Given the description of an element on the screen output the (x, y) to click on. 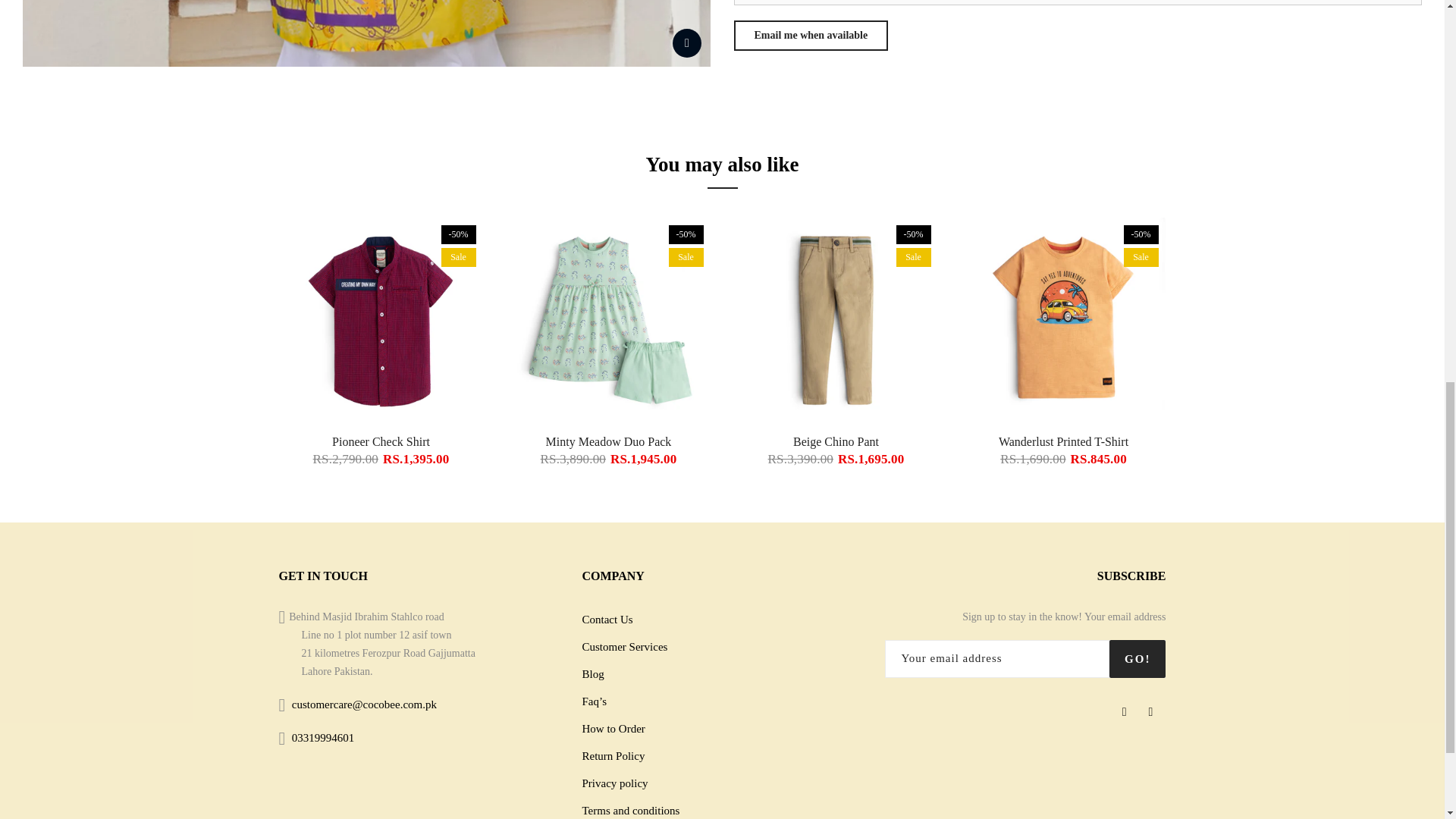
Email me when available (810, 35)
